Given the description of an element on the screen output the (x, y) to click on. 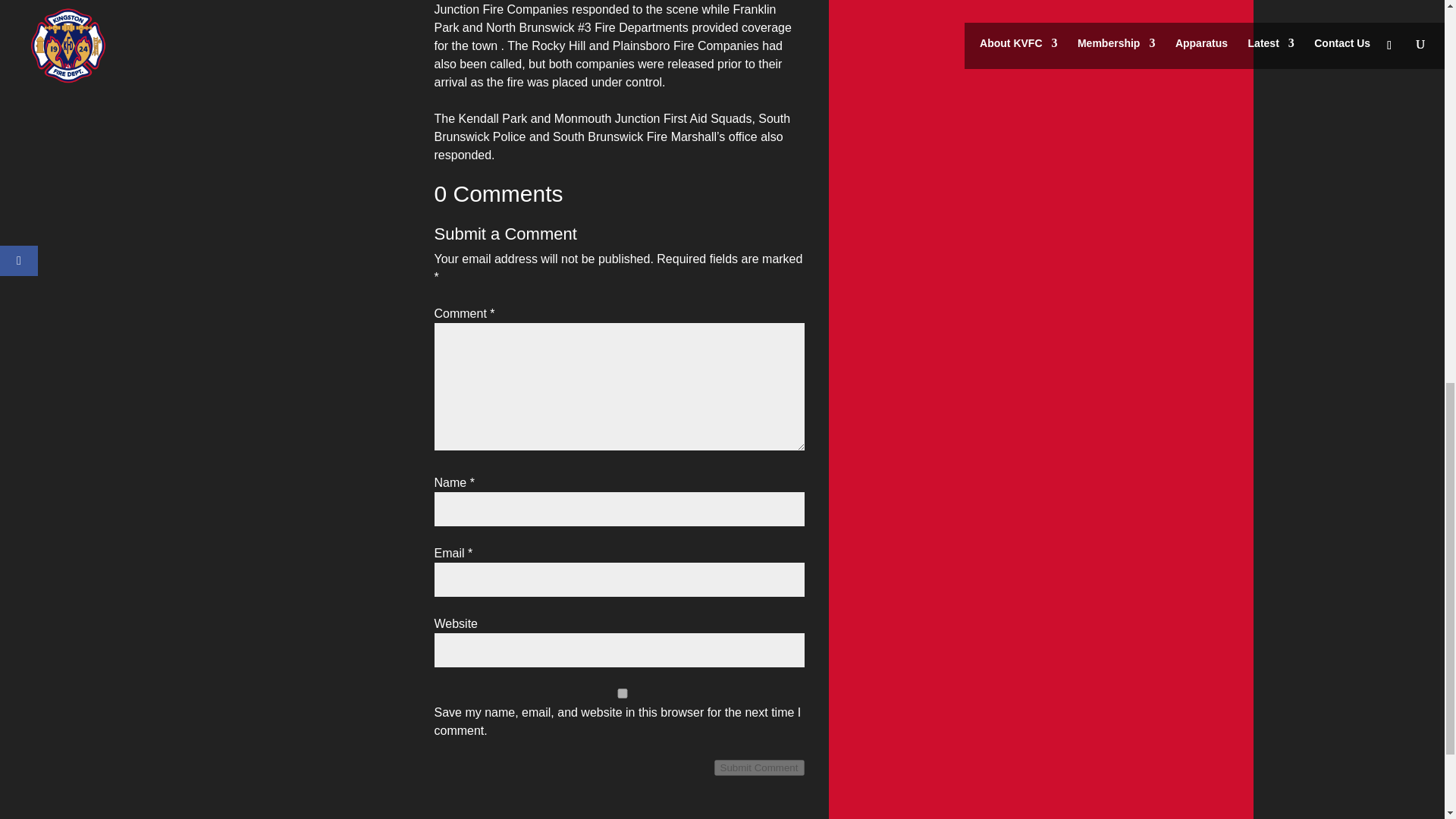
Submit Comment (759, 767)
yes (621, 693)
